Given the description of an element on the screen output the (x, y) to click on. 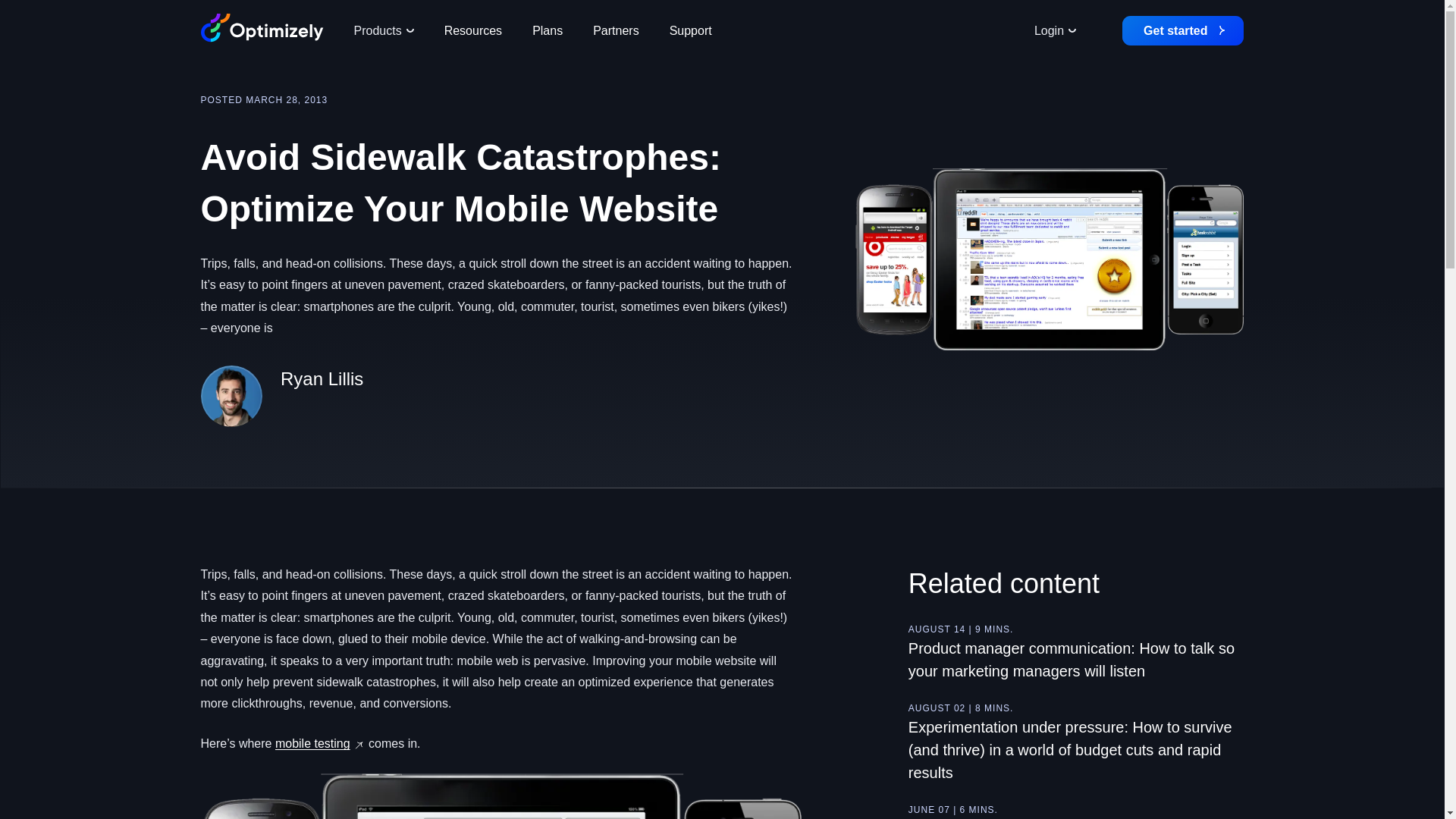
Optimizely Logo (261, 27)
Support (689, 30)
Resources (472, 30)
Login (1054, 30)
Optimizely Logo (261, 30)
Plans (547, 30)
Partners (615, 30)
mobile testing (312, 743)
Products (382, 30)
